Given the description of an element on the screen output the (x, y) to click on. 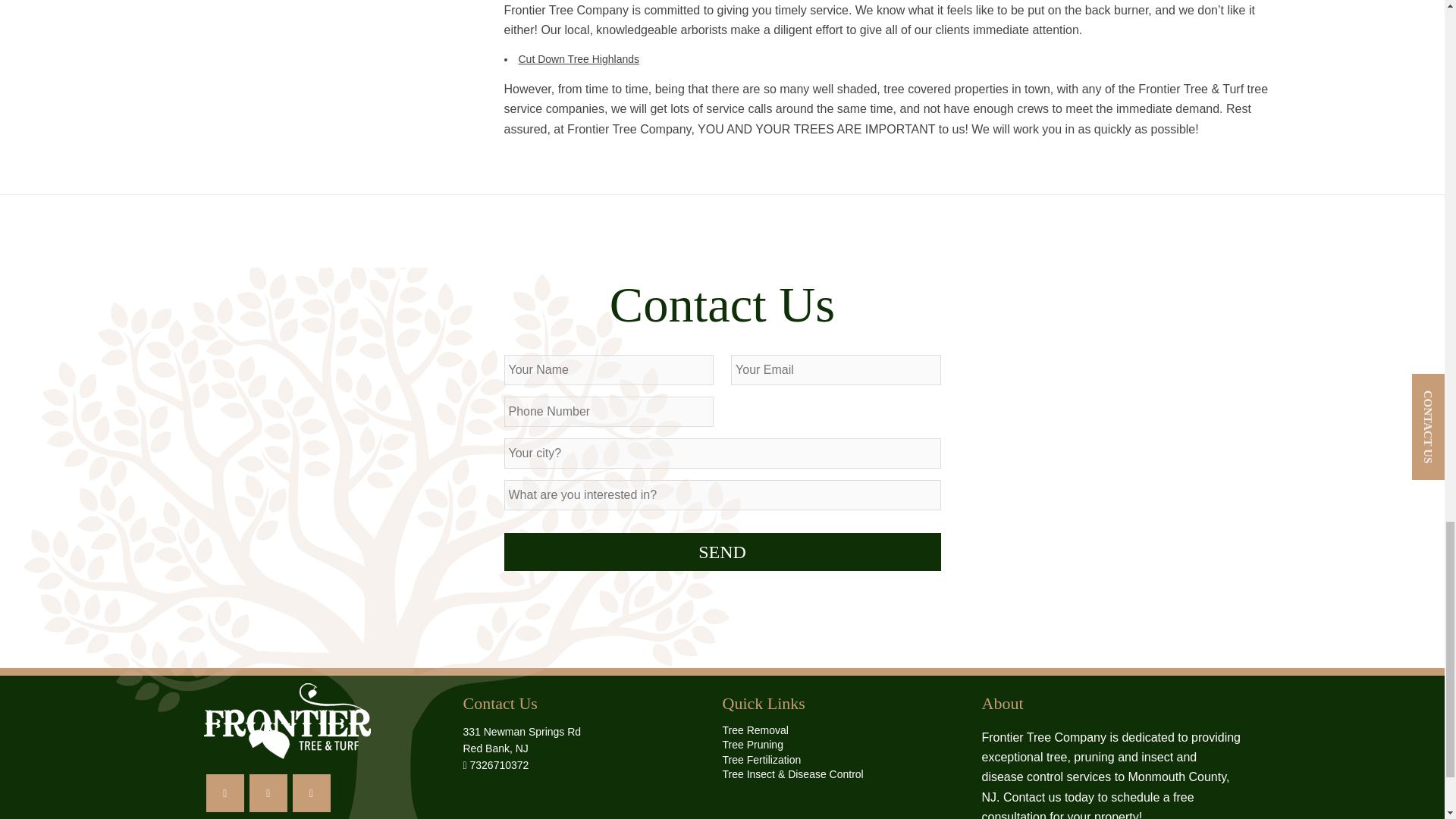
Send (721, 551)
Send (721, 551)
Frontier Tree Youtube (311, 792)
Frontier Tree Instagram (267, 792)
Frontier Tree Facebook (225, 792)
